Given the description of an element on the screen output the (x, y) to click on. 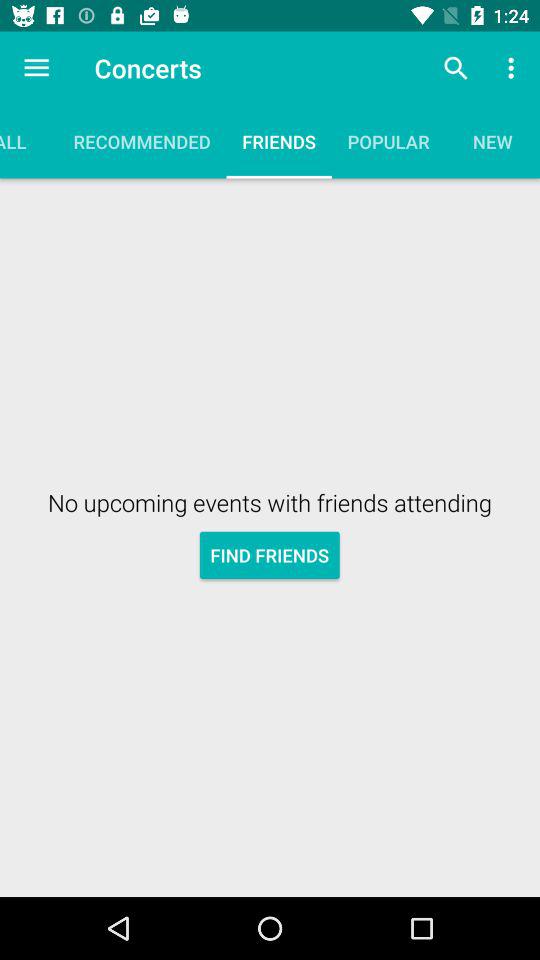
select the icon below no upcoming events item (269, 554)
